Given the description of an element on the screen output the (x, y) to click on. 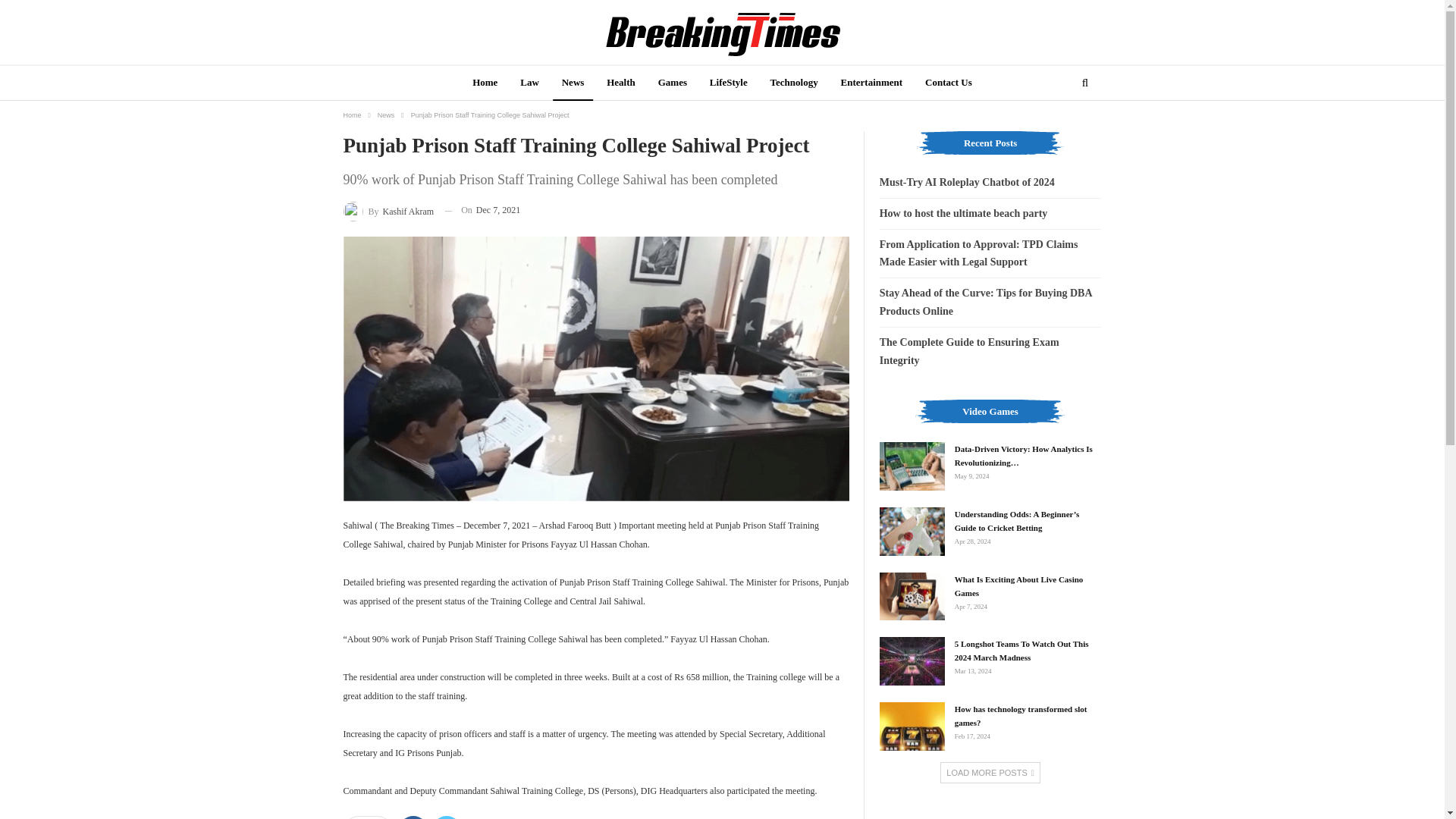
News (385, 115)
Technology (794, 83)
Health (620, 83)
Stay Ahead of the Curve: Tips for Buying DBA Products Online (985, 301)
Contact Us (948, 83)
By Kashif Akram (387, 209)
Browse Author Articles (387, 209)
News (573, 83)
Entertainment (871, 83)
Home (351, 115)
The Complete Guide to Ensuring Exam Integrity (969, 351)
Must-Try AI Roleplay Chatbot of 2024 (966, 182)
Home (484, 83)
Games (672, 83)
